Given the description of an element on the screen output the (x, y) to click on. 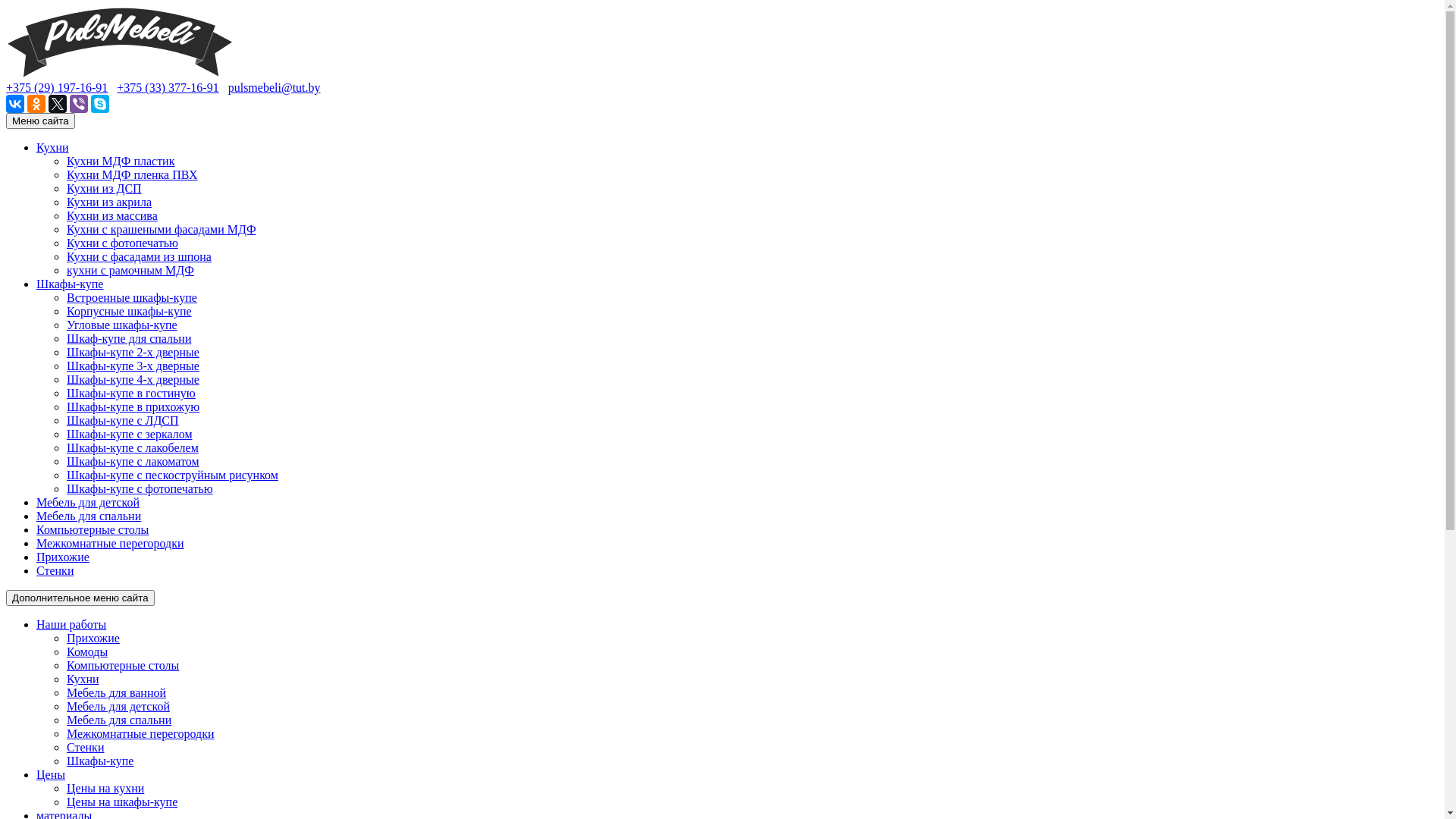
Viber Element type: hover (78, 103)
pulsmebeli@tut.by Element type: text (274, 87)
Skype Element type: hover (100, 103)
+375 (29) 197-16-91 Element type: text (56, 87)
+375 (33) 377-16-91 Element type: text (167, 87)
Twitter Element type: hover (57, 103)
